Given the description of an element on the screen output the (x, y) to click on. 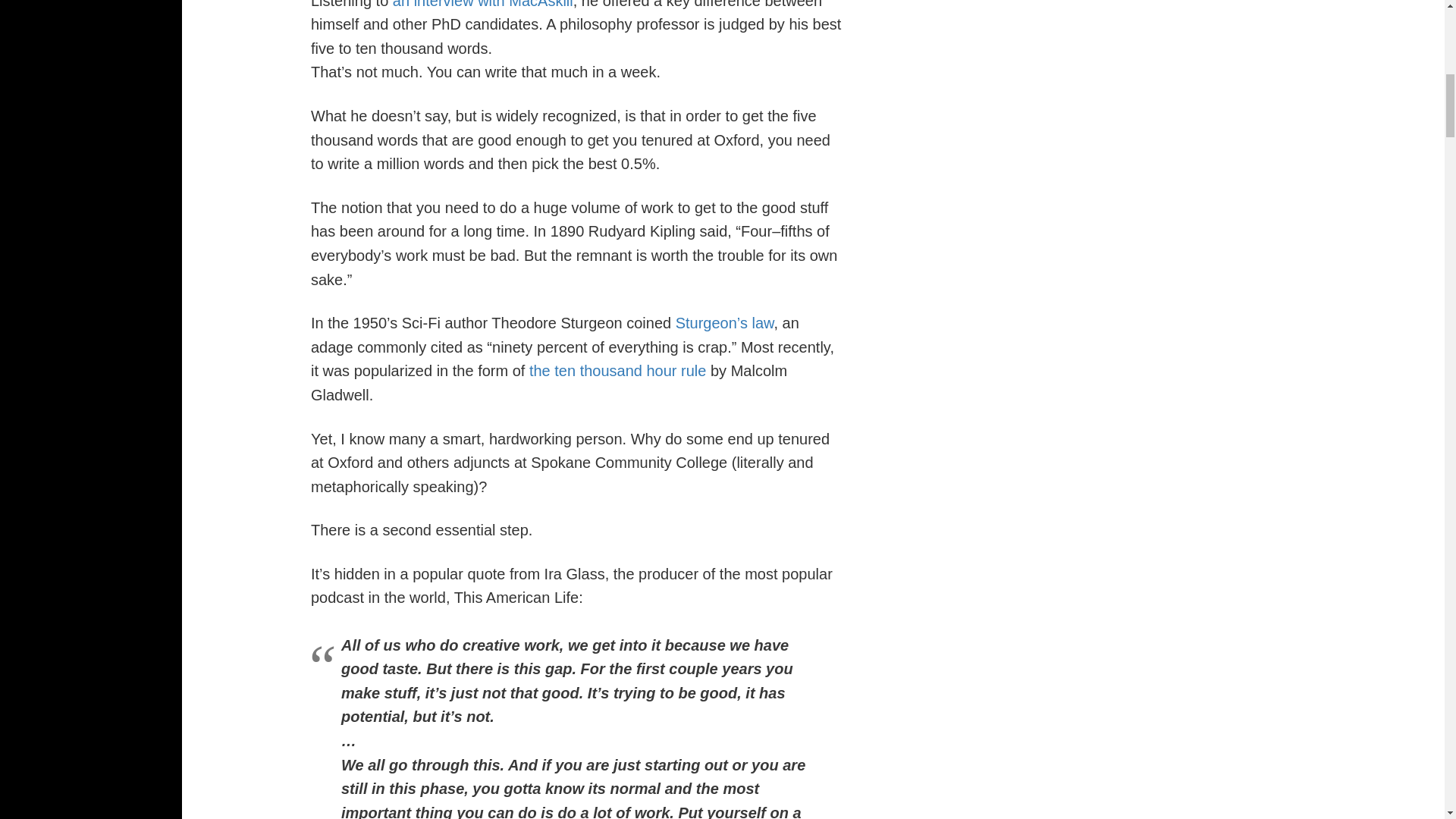
an interview with MacAskill (483, 4)
the ten thousand hour rule (617, 370)
